Given the description of an element on the screen output the (x, y) to click on. 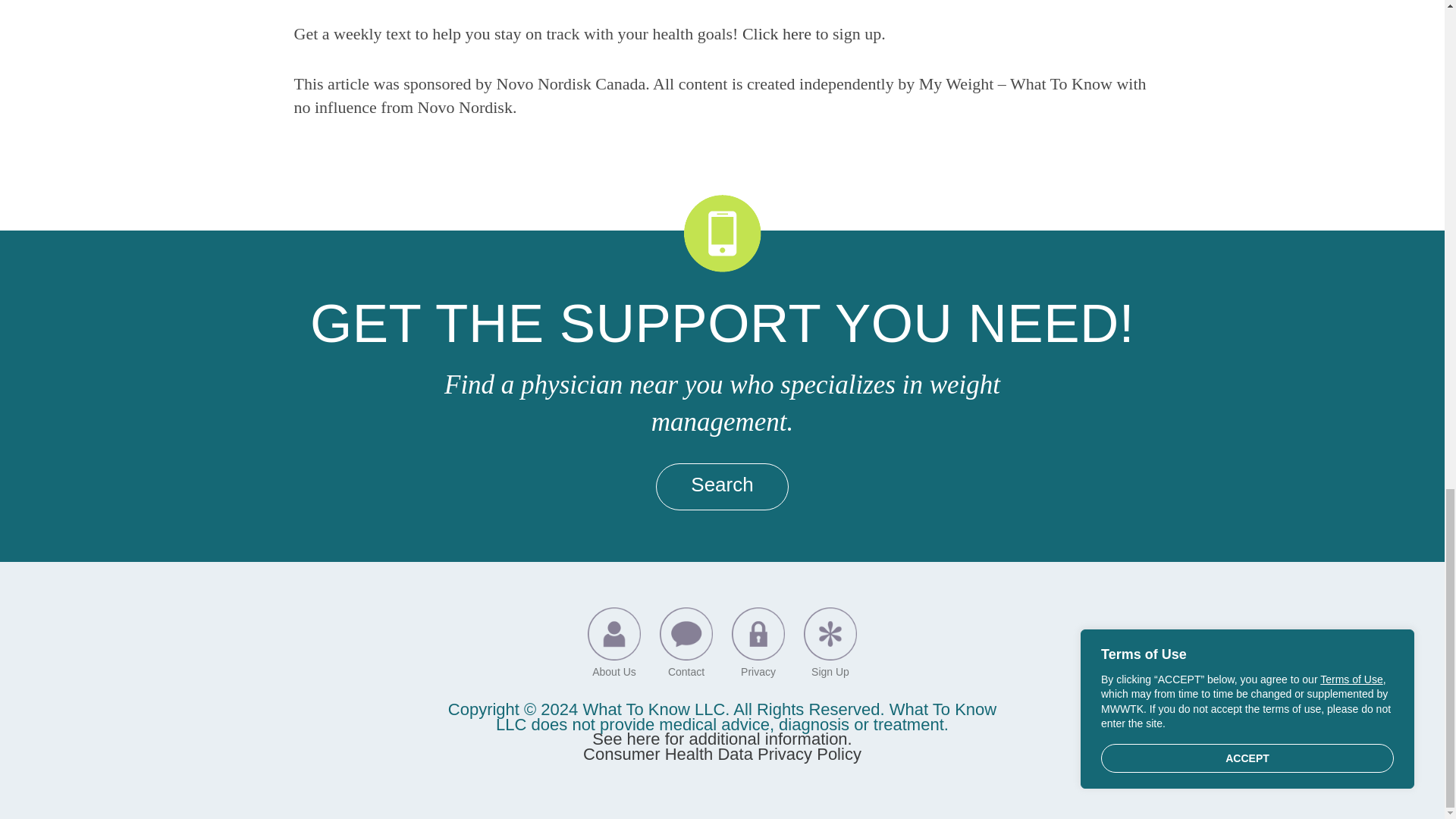
See here for additional information. (721, 738)
Search (721, 486)
contact-us-footer-icon (686, 633)
yellow-phone-icon (722, 232)
Click here (776, 33)
about-us-footer-icon (614, 633)
Consumer Health Data Privacy Policy (722, 753)
sign-up-footer-icon (830, 633)
privacy-footer-icon (758, 633)
